Given the description of an element on the screen output the (x, y) to click on. 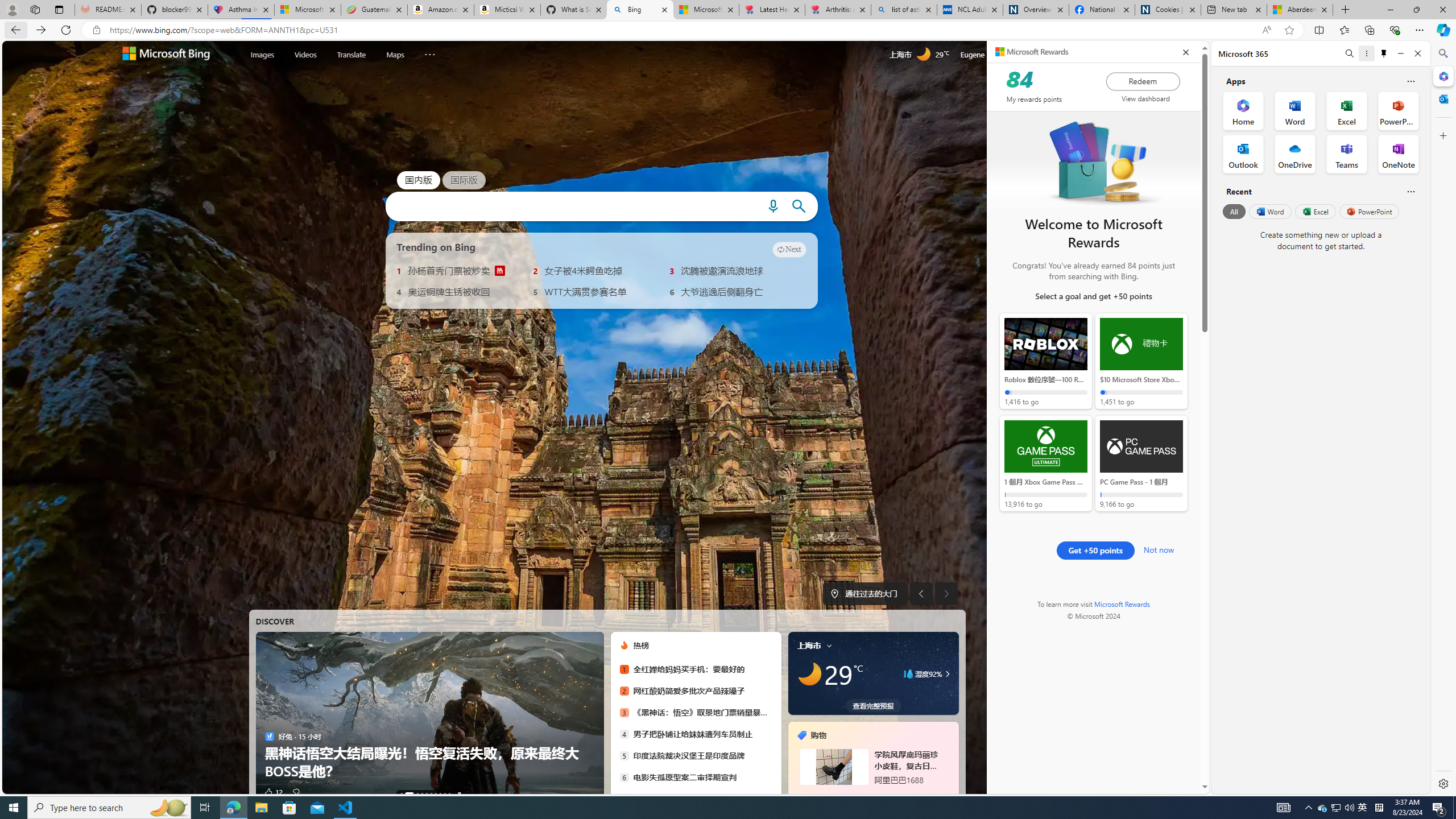
tab-2 (852, 795)
closeEduPanel (1185, 51)
AutomationID: tab-9 (448, 793)
AutomationID: tab-8 (444, 793)
Translate (351, 53)
Excel (1315, 210)
tab-6 (879, 795)
Microsoft Rewards (1031, 51)
Cookies | About | NICE (1167, 9)
